Given the description of an element on the screen output the (x, y) to click on. 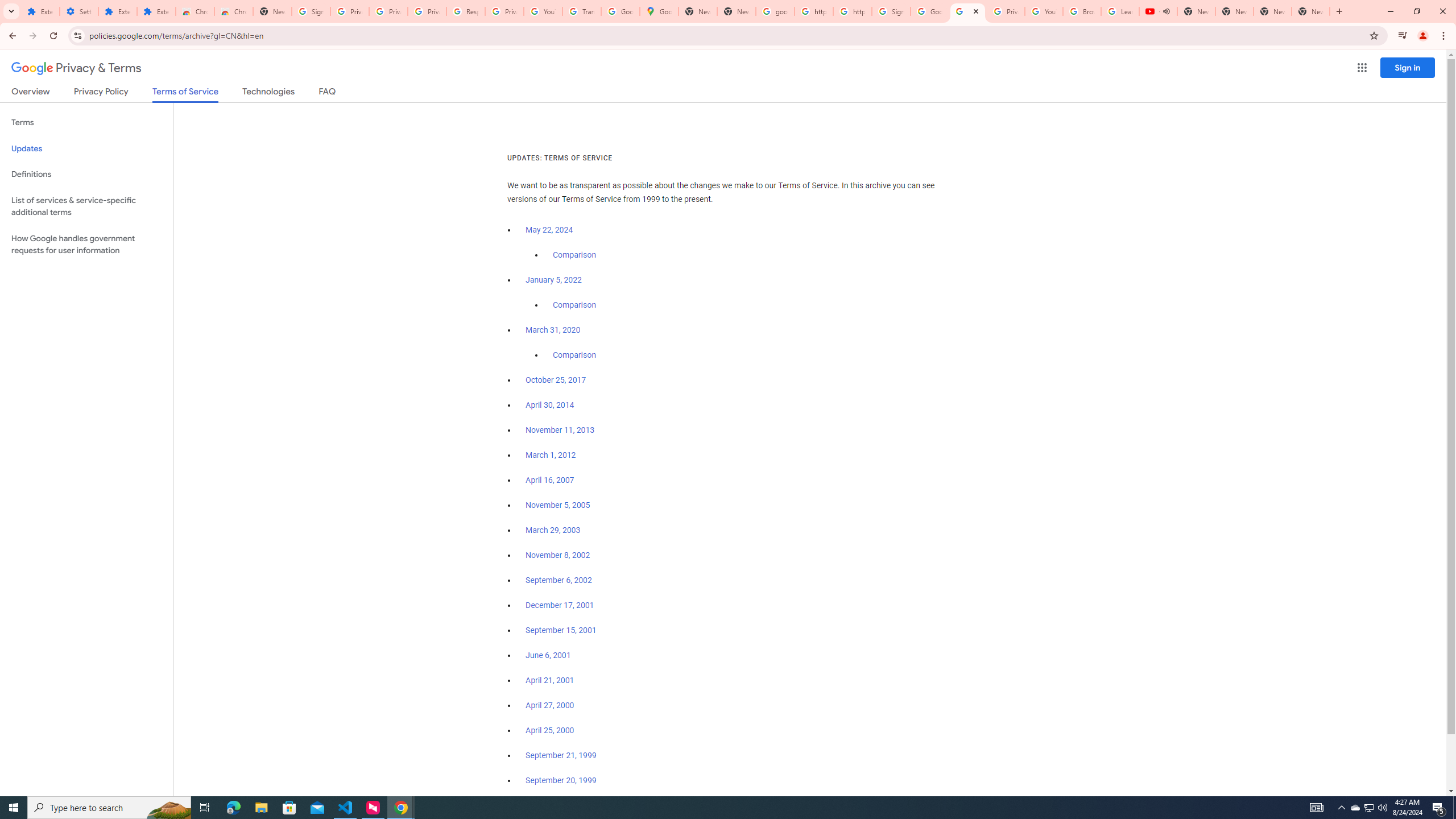
May 22, 2024 (549, 230)
Chrome Web Store - Themes (233, 11)
April 27, 2000 (550, 705)
November 11, 2013 (560, 430)
New Tab (1311, 11)
https://scholar.google.com/ (852, 11)
September 15, 2001 (560, 629)
